Given the description of an element on the screen output the (x, y) to click on. 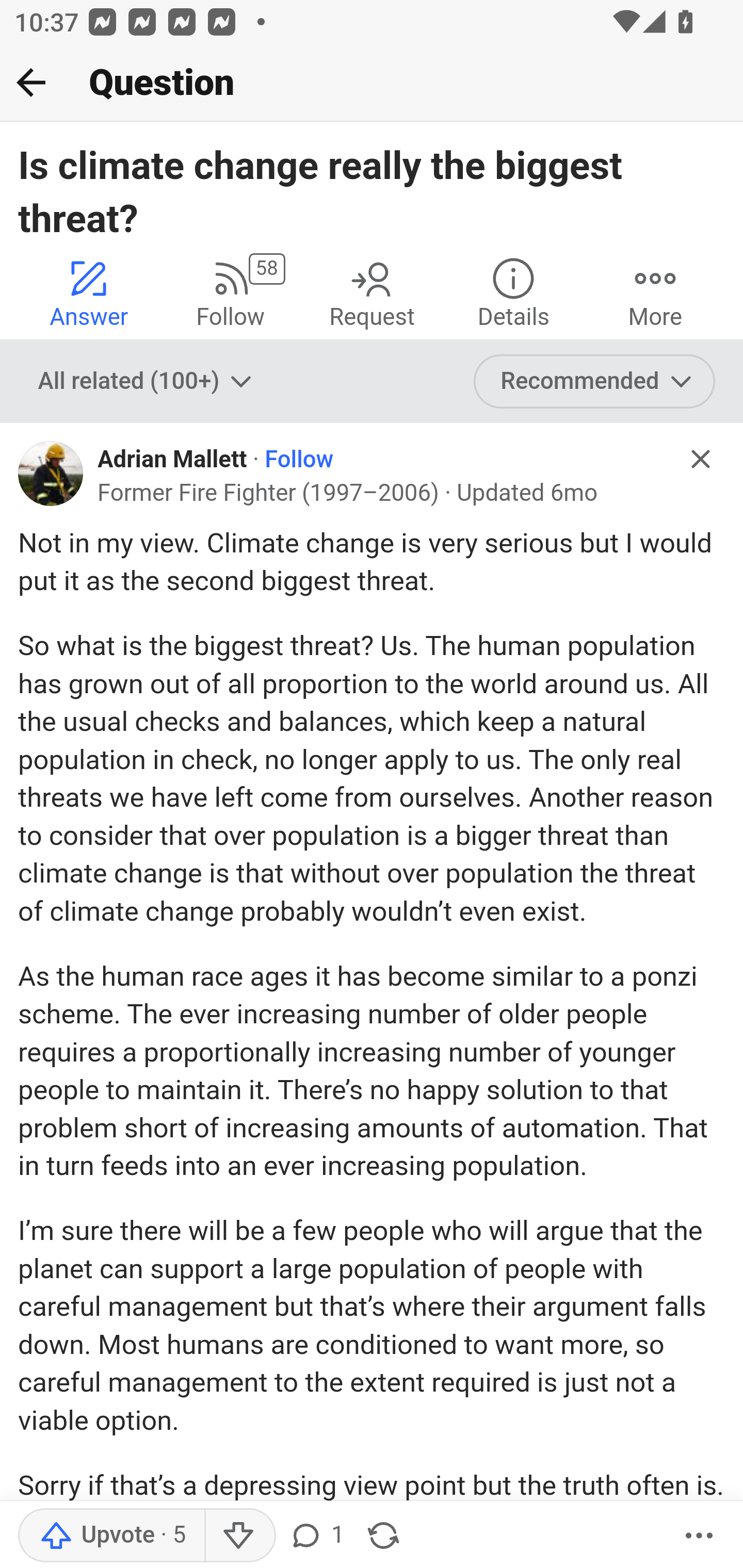
Back Question (371, 82)
Back (30, 82)
Answer (88, 292)
58 Follow (230, 292)
Request (371, 292)
Details (513, 292)
More (655, 292)
All related (100+) (146, 381)
Recommended (594, 381)
Hide (700, 459)
Profile photo for Adrian Mallett (50, 473)
Adrian Mallett (172, 459)
Follow (298, 459)
Updated 6mo Updated  6 mo (526, 493)
Upvote (111, 1535)
Downvote (238, 1535)
1 comment (315, 1535)
Share (383, 1535)
More (699, 1535)
